Given the description of an element on the screen output the (x, y) to click on. 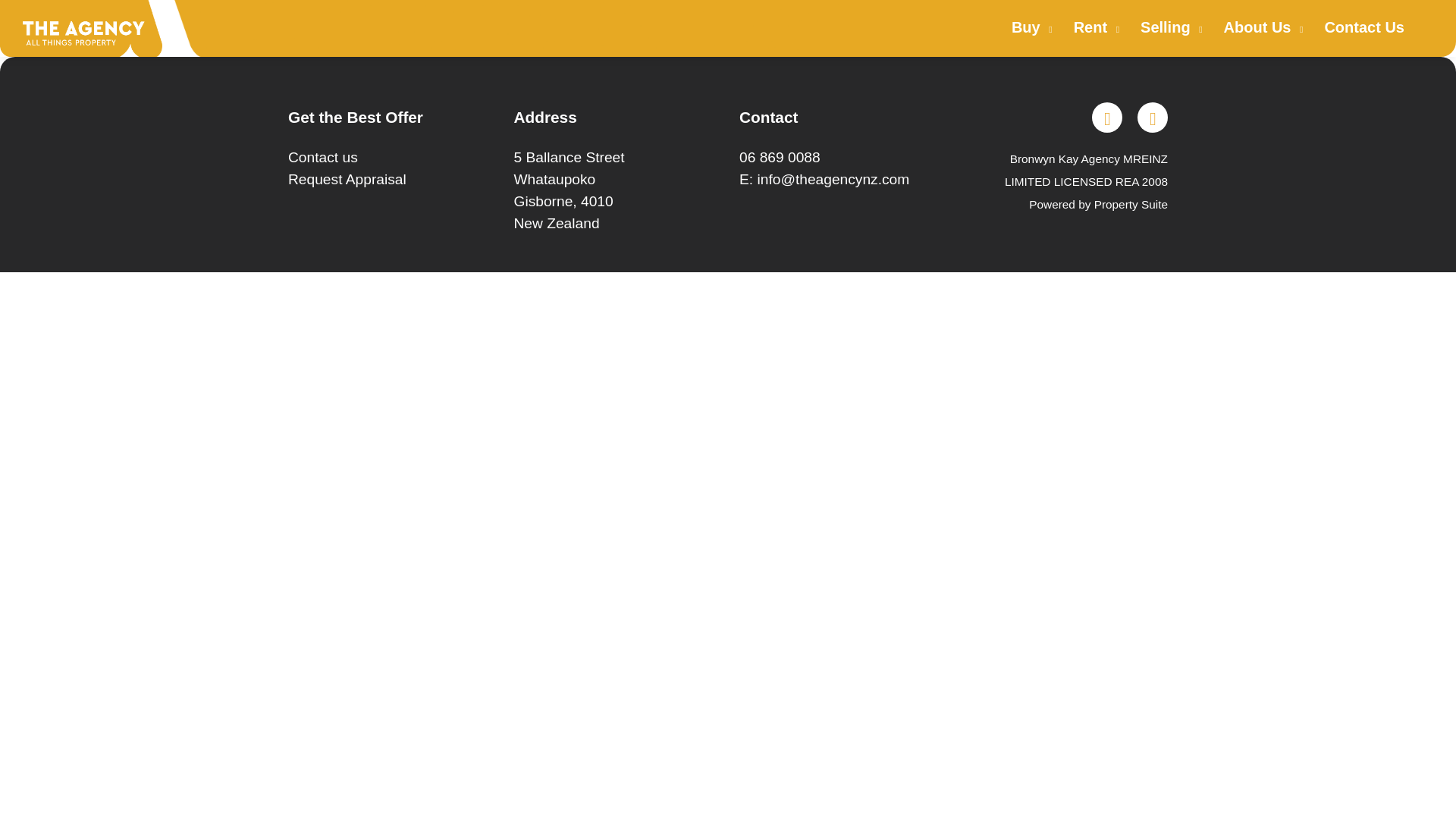
About Us (1260, 26)
Selling (1167, 26)
Contact Us (1364, 26)
Rent (1092, 26)
Buy (1028, 26)
